Given the description of an element on the screen output the (x, y) to click on. 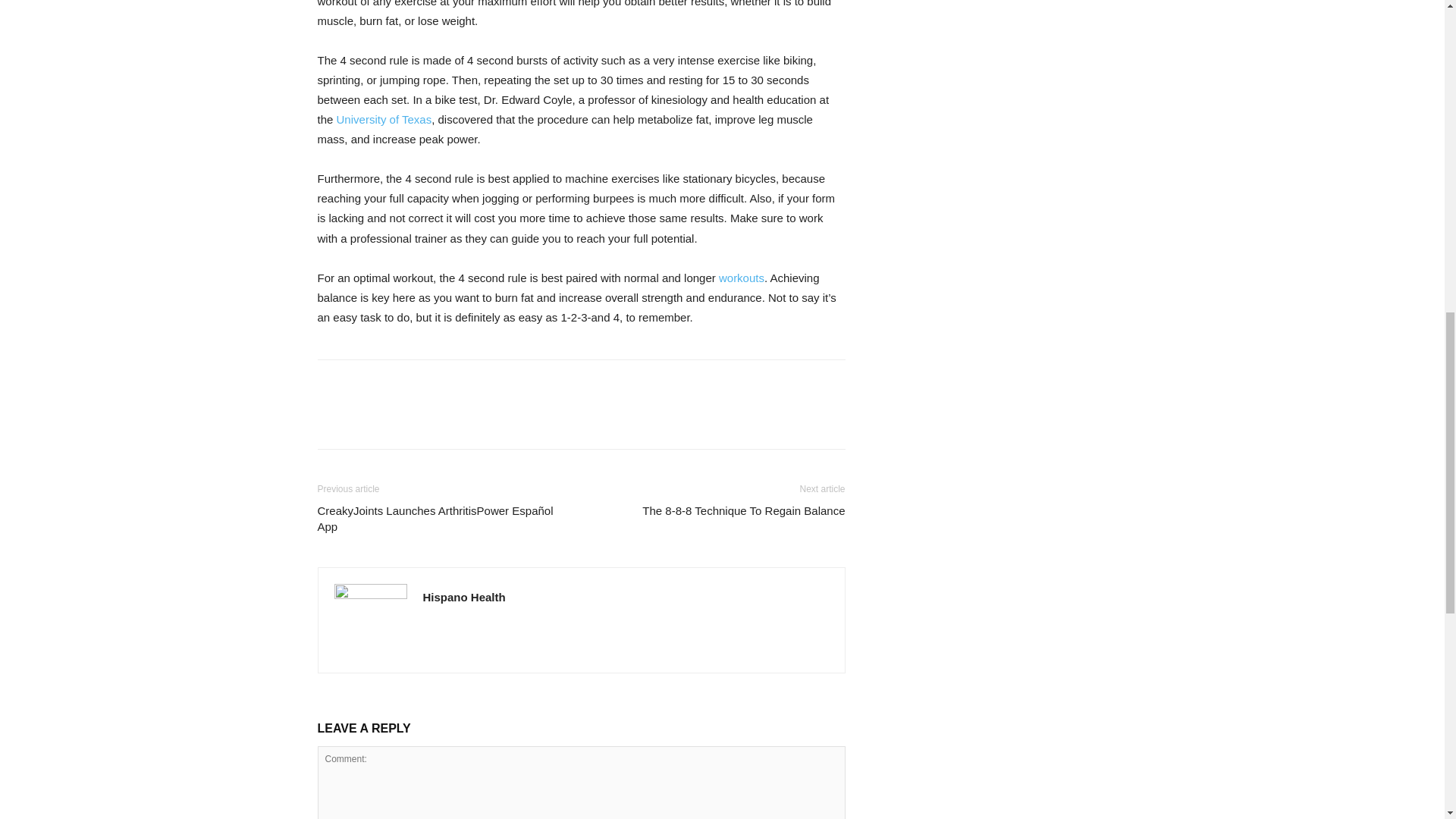
workouts (741, 277)
The 8-8-8 Technique To Regain Balance (743, 510)
University of Texas (384, 119)
